Given the description of an element on the screen output the (x, y) to click on. 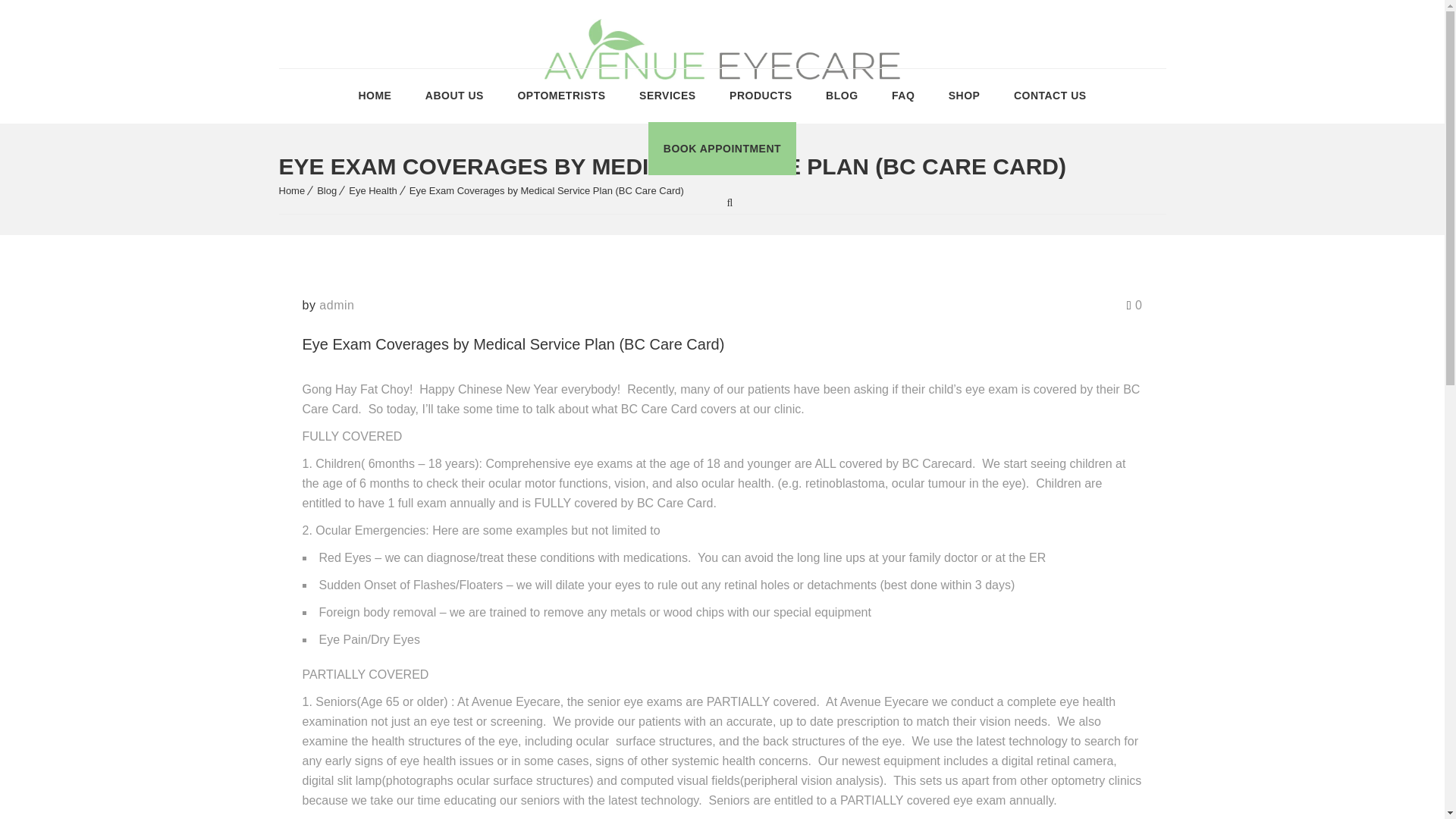
Blog (326, 190)
CONTACT US (1049, 95)
Home (292, 190)
Eye Health (373, 190)
0 (1134, 305)
SERVICES (667, 95)
ABOUT US (454, 95)
OPTOMETRISTS (560, 95)
Avenue Eyecare (722, 30)
BOOK APPOINTMENT (721, 148)
